Given the description of an element on the screen output the (x, y) to click on. 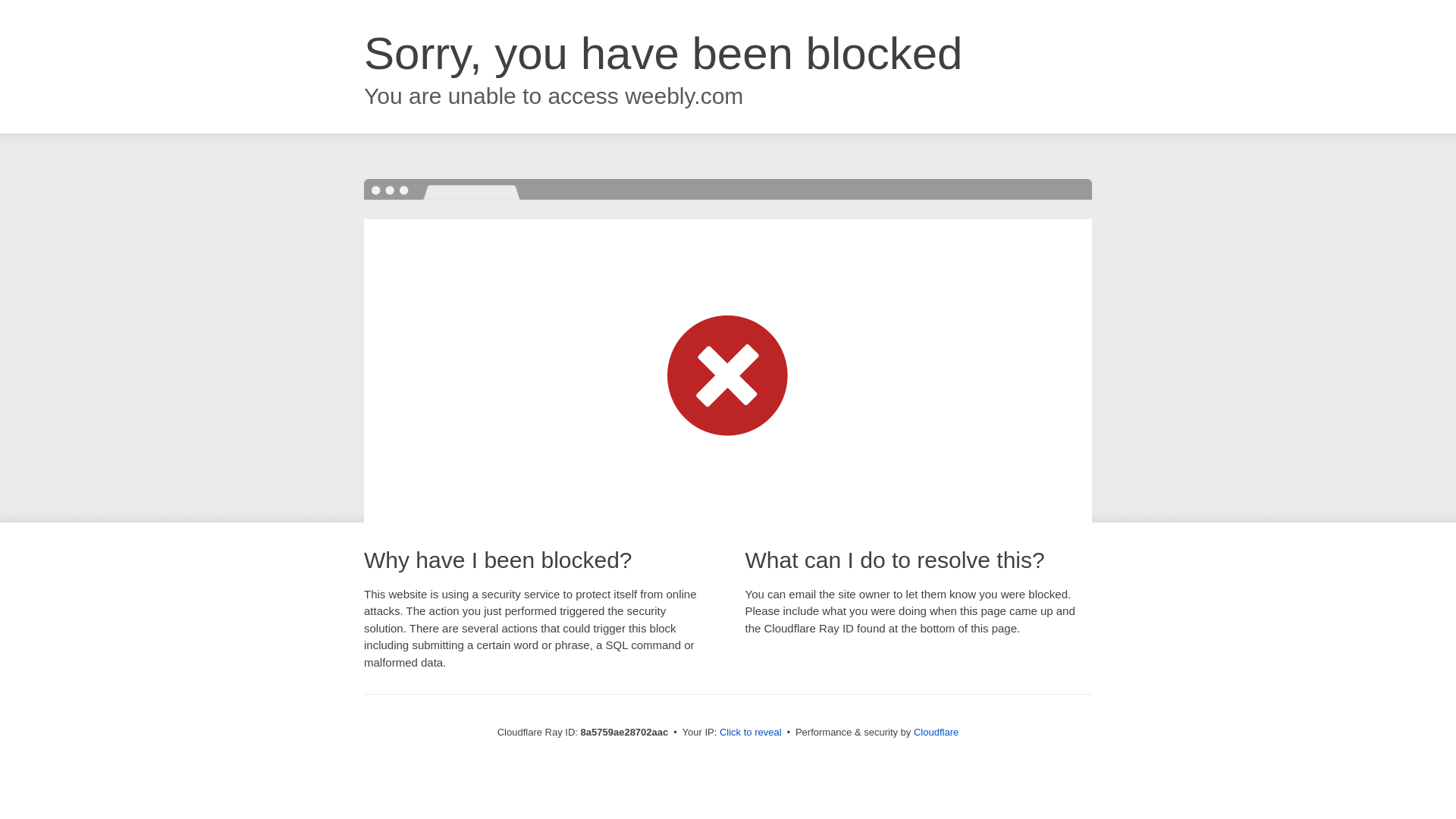
Cloudflare (936, 731)
Click to reveal (750, 732)
